Given the description of an element on the screen output the (x, y) to click on. 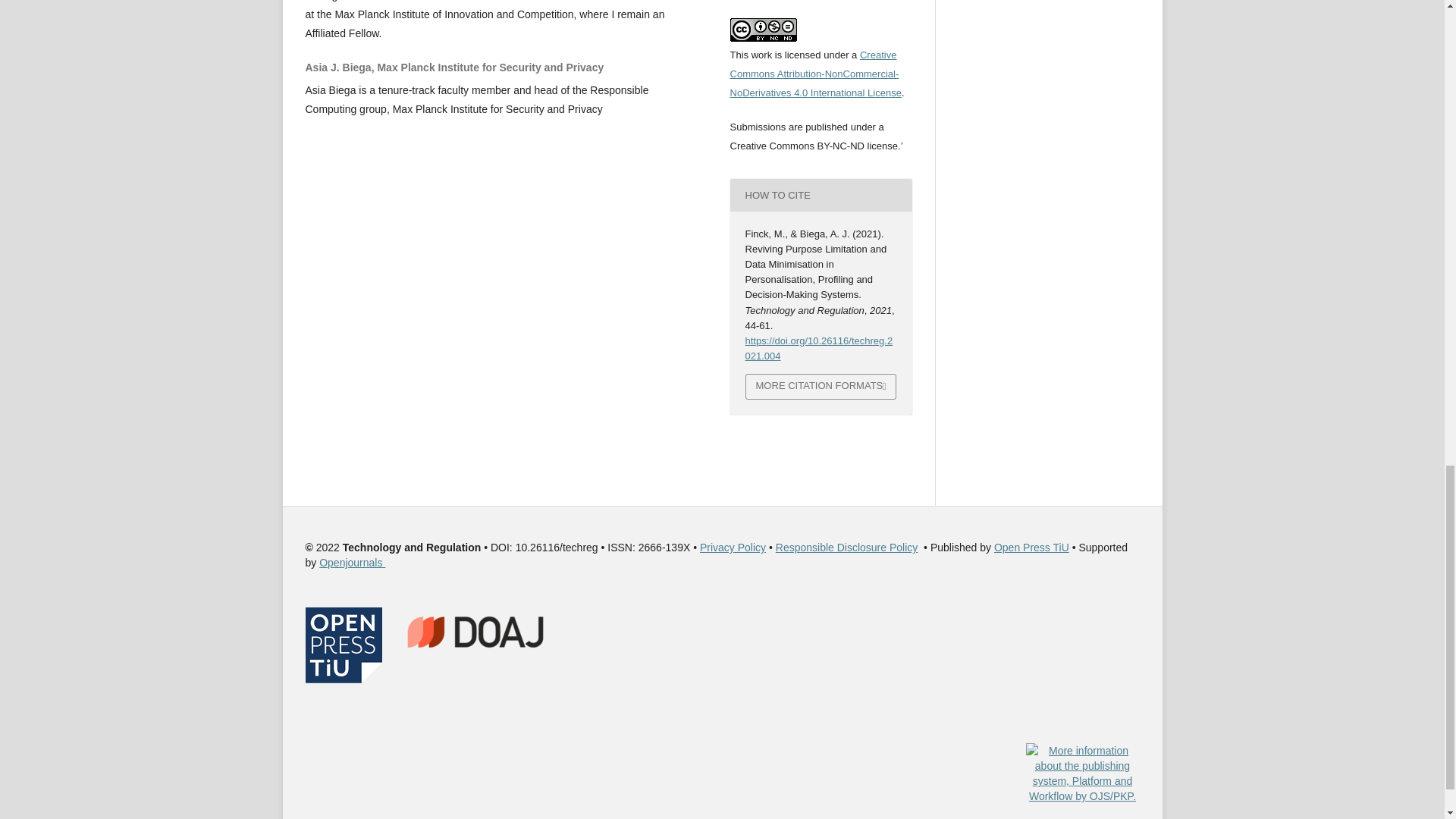
Responsible Disclosure Policy (847, 547)
MORE CITATION FORMATS (820, 386)
Open Press TiU (1031, 547)
Privacy Policy (732, 547)
Openjournals  (351, 562)
